Given the description of an element on the screen output the (x, y) to click on. 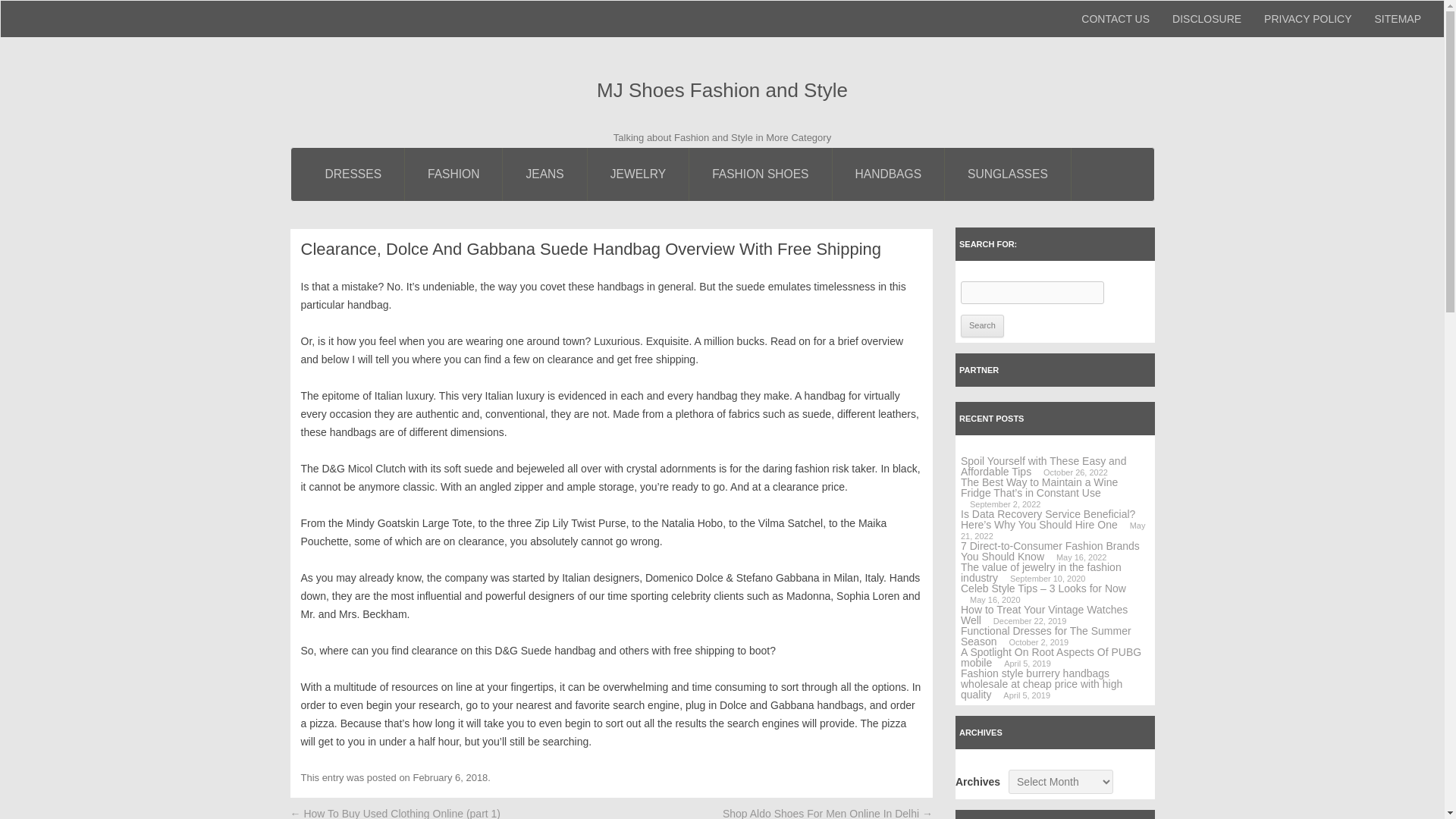
JEANS (544, 174)
CONTACT US (1115, 18)
PRIVACY POLICY (1307, 18)
February 6, 2018 (449, 777)
Jewelry (638, 174)
FASHION (453, 174)
DISCLOSURE (1206, 18)
Search (982, 325)
SITEMAP (1397, 18)
How to Treat Your Vintage Watches Well (1043, 614)
